Given the description of an element on the screen output the (x, y) to click on. 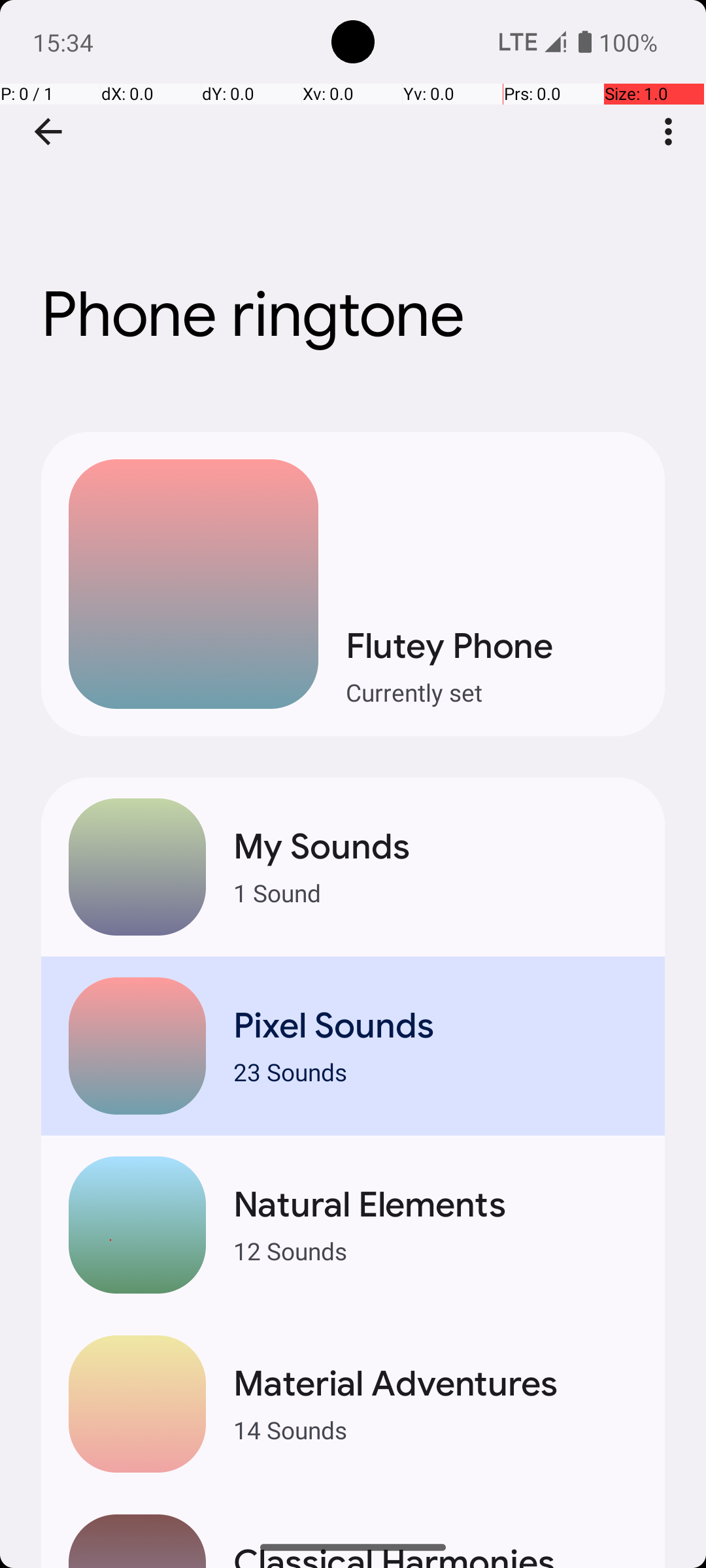
Currently set Element type: android.widget.TextView (491, 691)
My Sounds Element type: android.widget.TextView (435, 846)
1 Sound Element type: android.widget.TextView (435, 892)
Pixel Sounds Element type: android.widget.TextView (435, 1025)
23 Sounds Element type: android.widget.TextView (435, 1071)
Natural Elements Element type: android.widget.TextView (435, 1204)
12 Sounds Element type: android.widget.TextView (435, 1250)
Material Adventures Element type: android.widget.TextView (435, 1383)
14 Sounds Element type: android.widget.TextView (435, 1429)
Classical Harmonies Element type: android.widget.TextView (435, 1554)
